Given the description of an element on the screen output the (x, y) to click on. 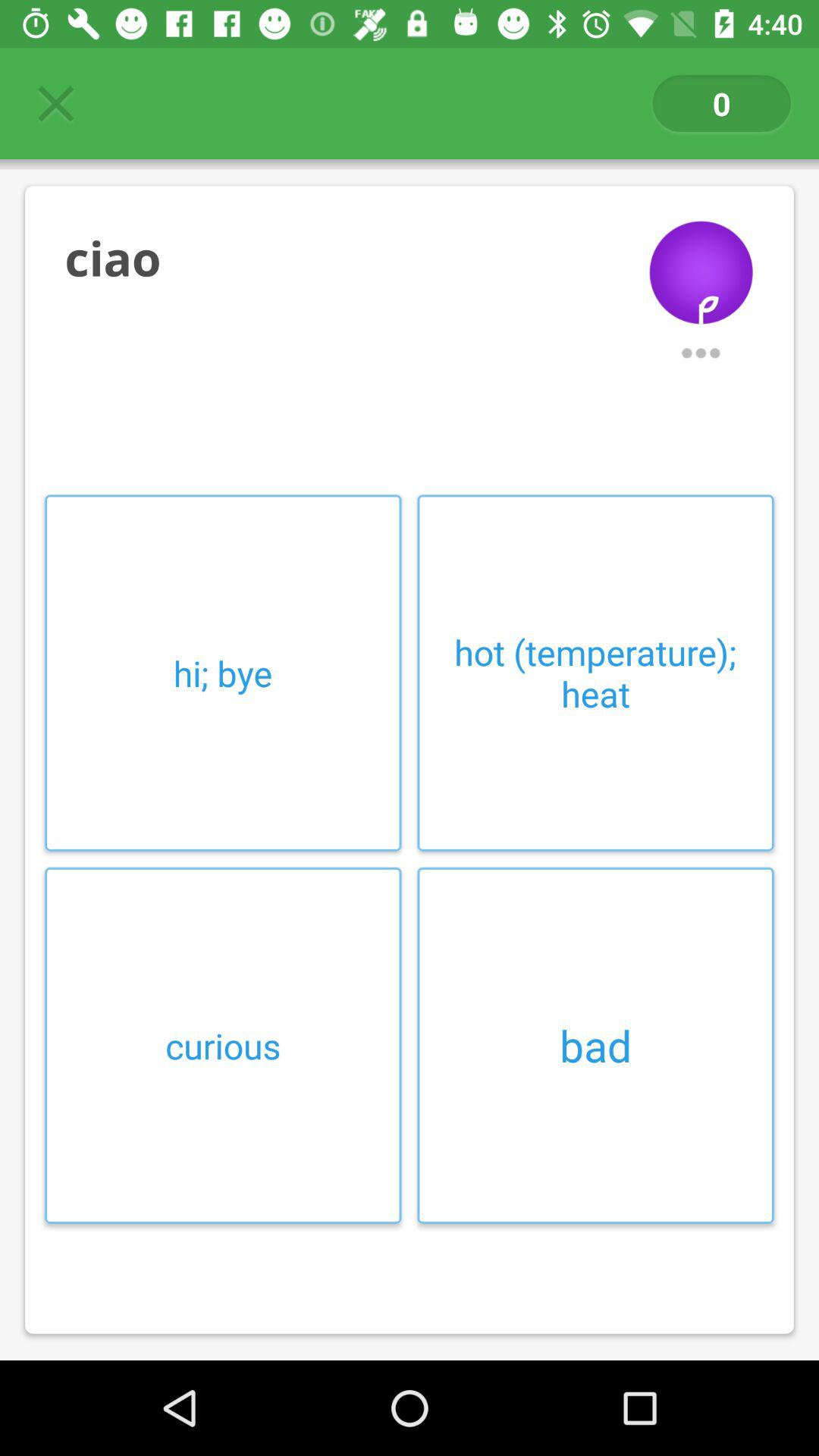
turn off icon on the left (222, 672)
